Given the description of an element on the screen output the (x, y) to click on. 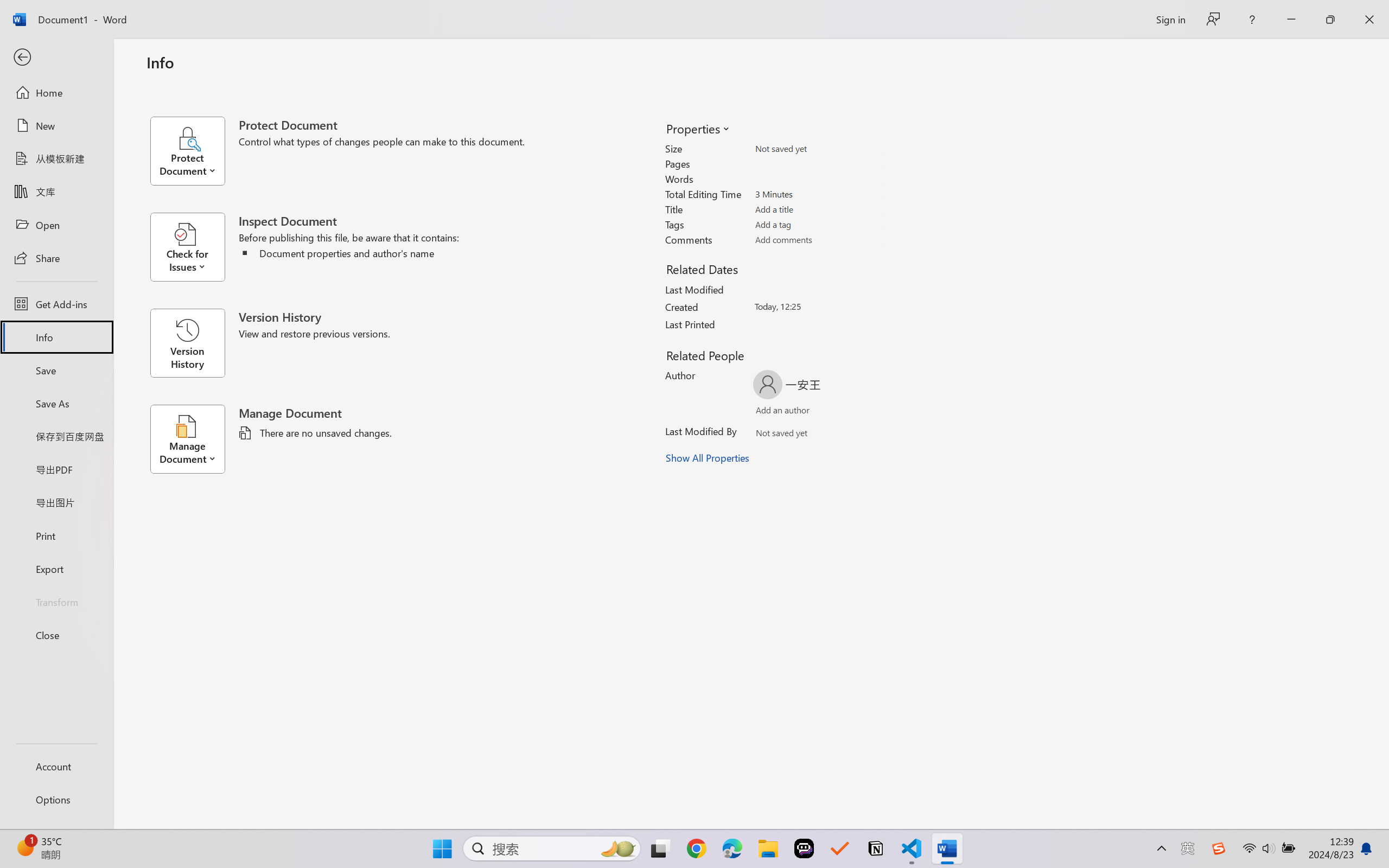
Verify Names (802, 434)
Transform (56, 601)
Export (56, 568)
